Given the description of an element on the screen output the (x, y) to click on. 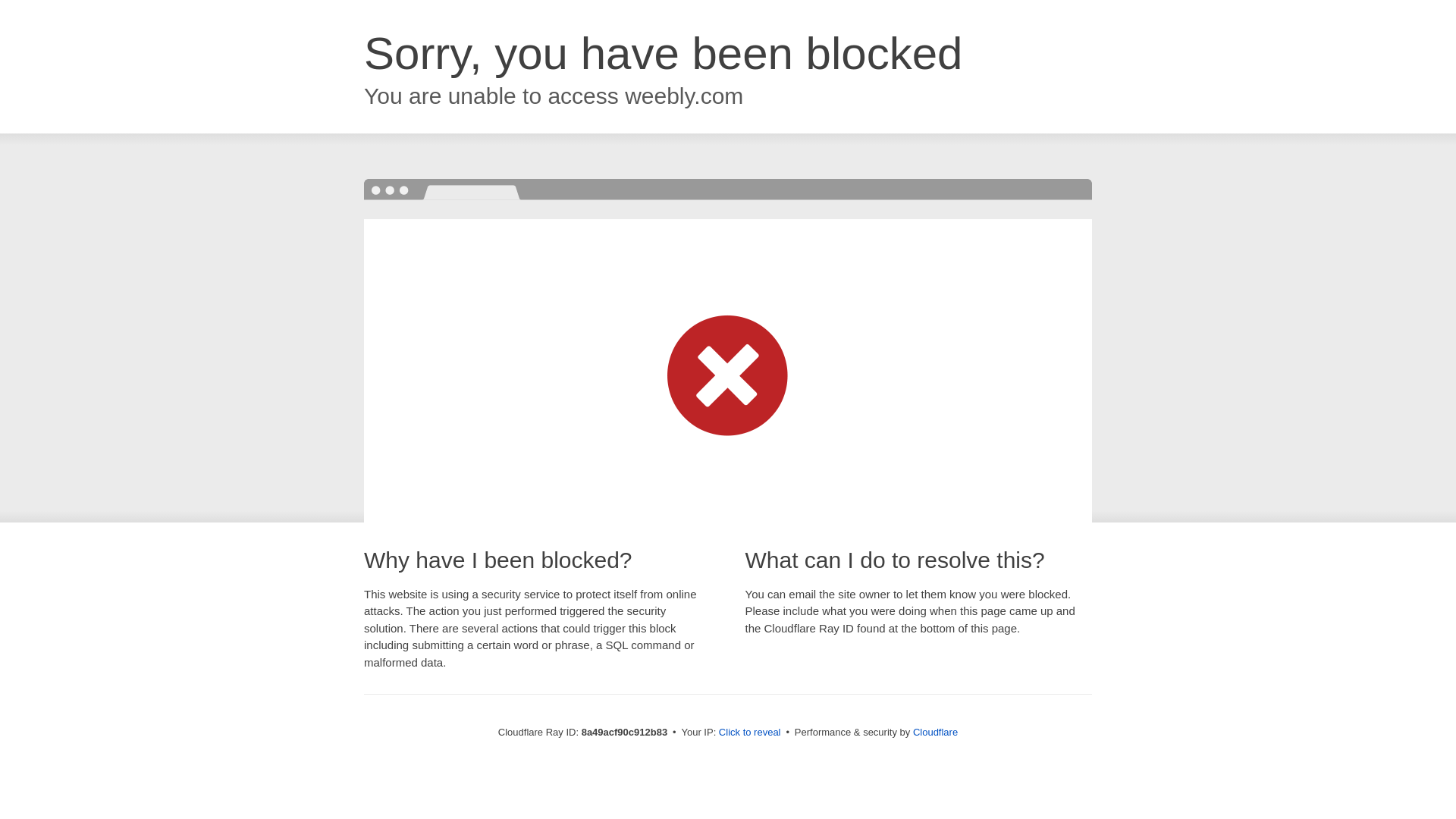
Click to reveal (749, 732)
Cloudflare (935, 731)
